Given the description of an element on the screen output the (x, y) to click on. 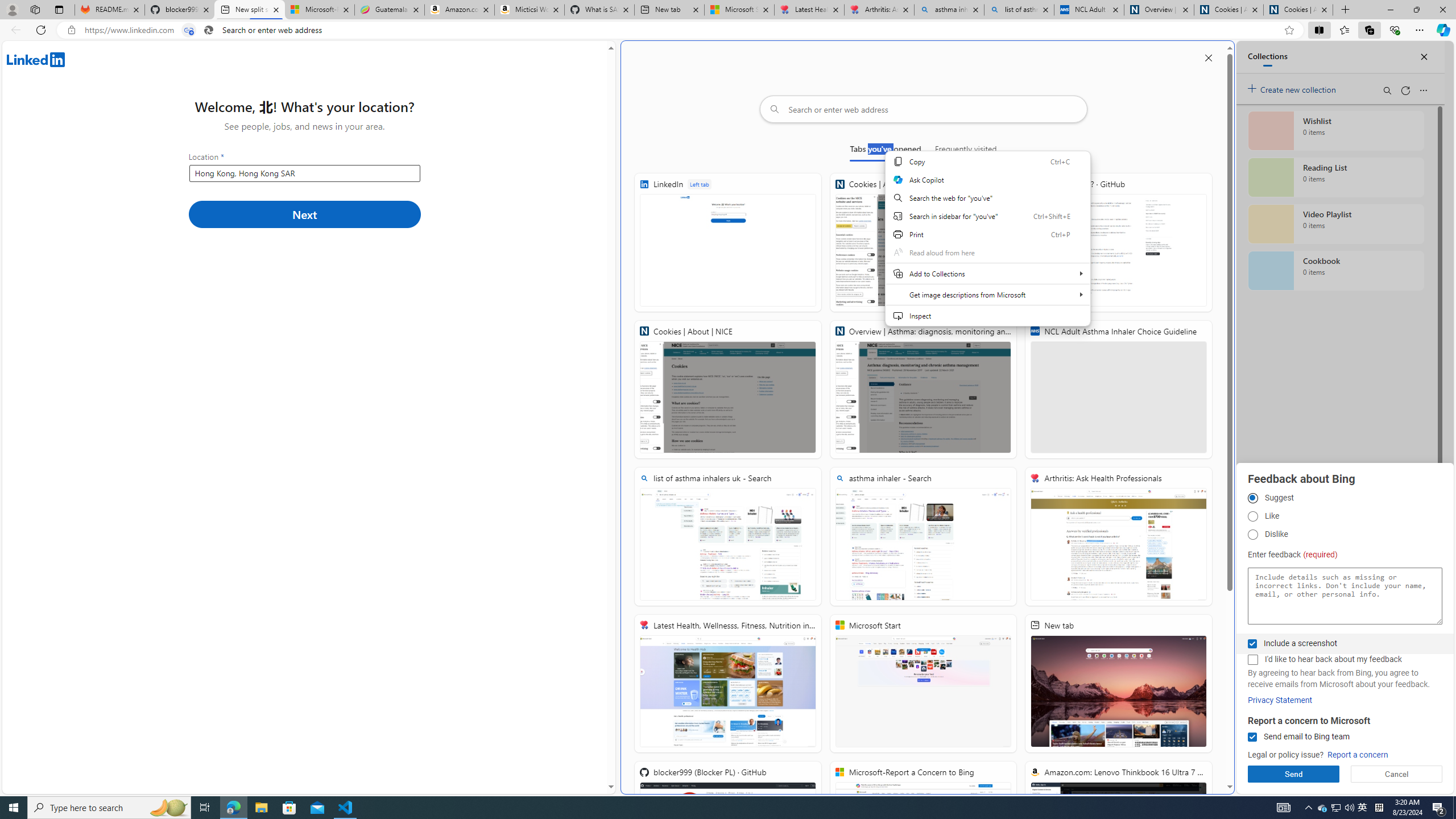
Search or enter web address (922, 108)
